Given the description of an element on the screen output the (x, y) to click on. 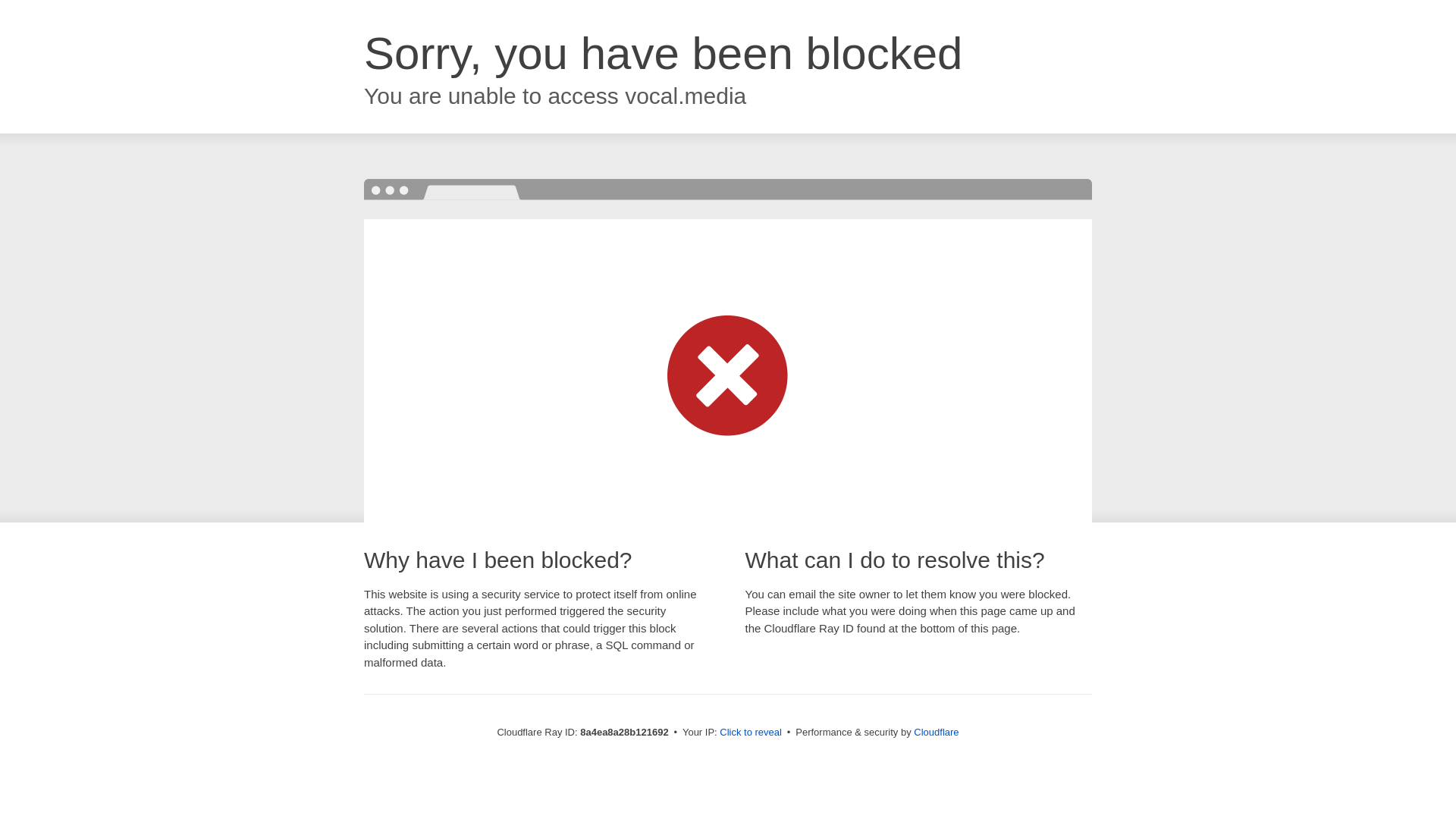
Cloudflare (936, 731)
Click to reveal (750, 732)
